Given the description of an element on the screen output the (x, y) to click on. 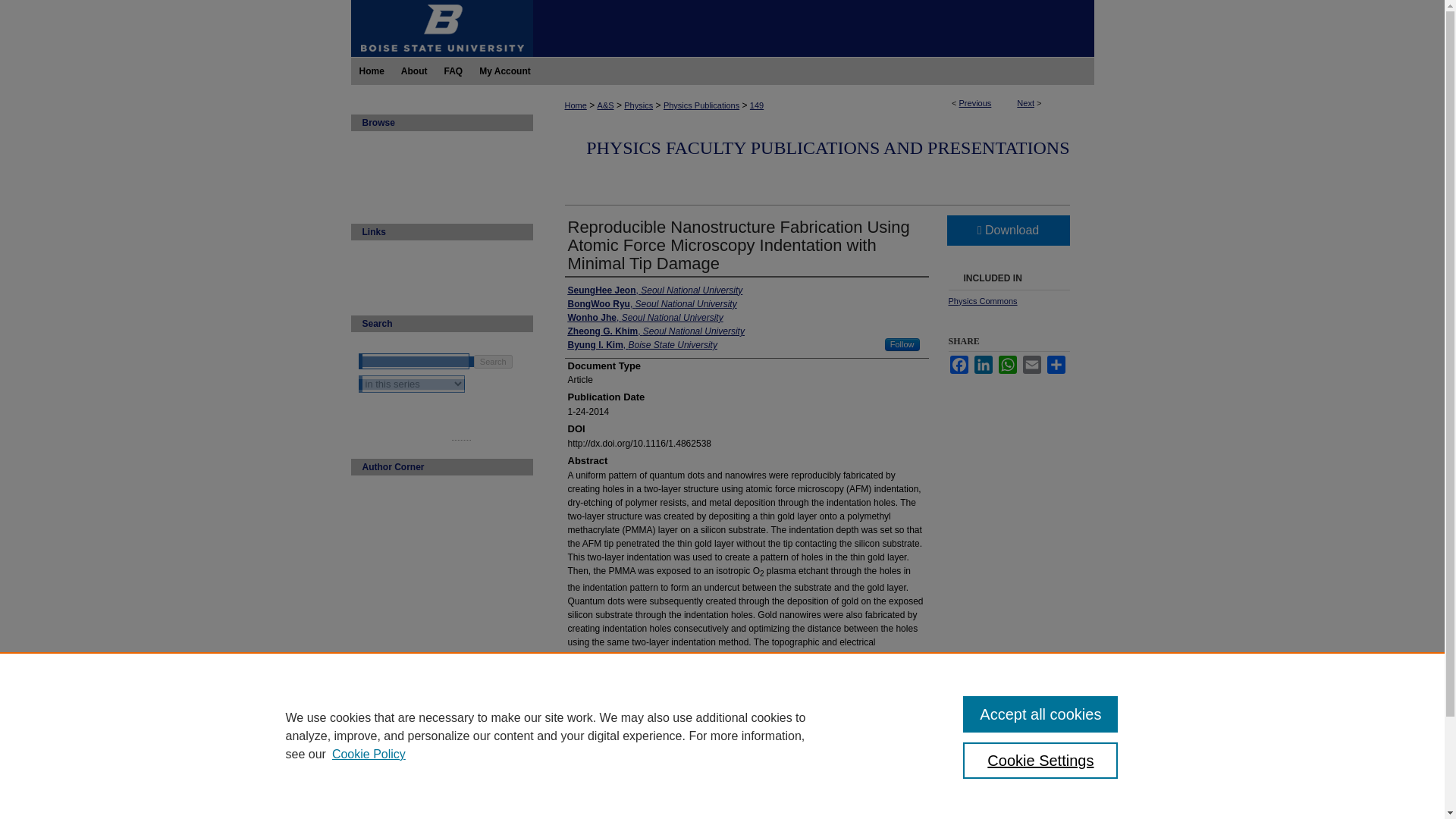
Home (575, 104)
Wonho Jhe, Seoul National University (644, 317)
BongWoo Ryu, Seoul National University (651, 304)
Home (370, 71)
Physics Commons (981, 300)
ScholarWorks (812, 28)
Follow (902, 344)
PHYSICS FACULTY PUBLICATIONS AND PRESENTATIONS (827, 148)
Zheong G. Khim, Seoul National University (655, 331)
Search (493, 361)
FAQ (452, 71)
Download (1007, 230)
Physics Commons (981, 300)
ScholarWorks (812, 28)
Previous (975, 102)
